Given the description of an element on the screen output the (x, y) to click on. 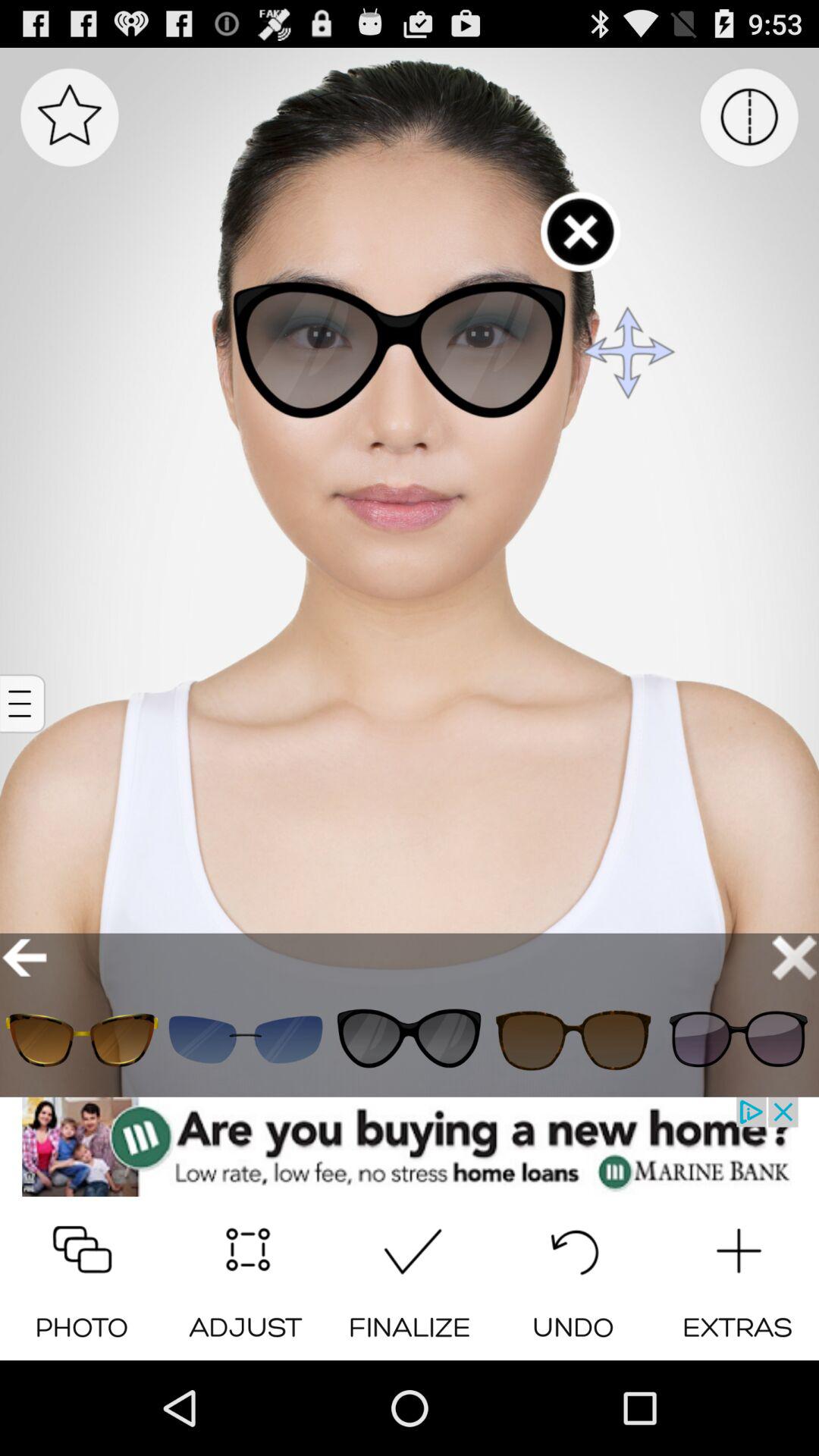
menu (69, 117)
